Given the description of an element on the screen output the (x, y) to click on. 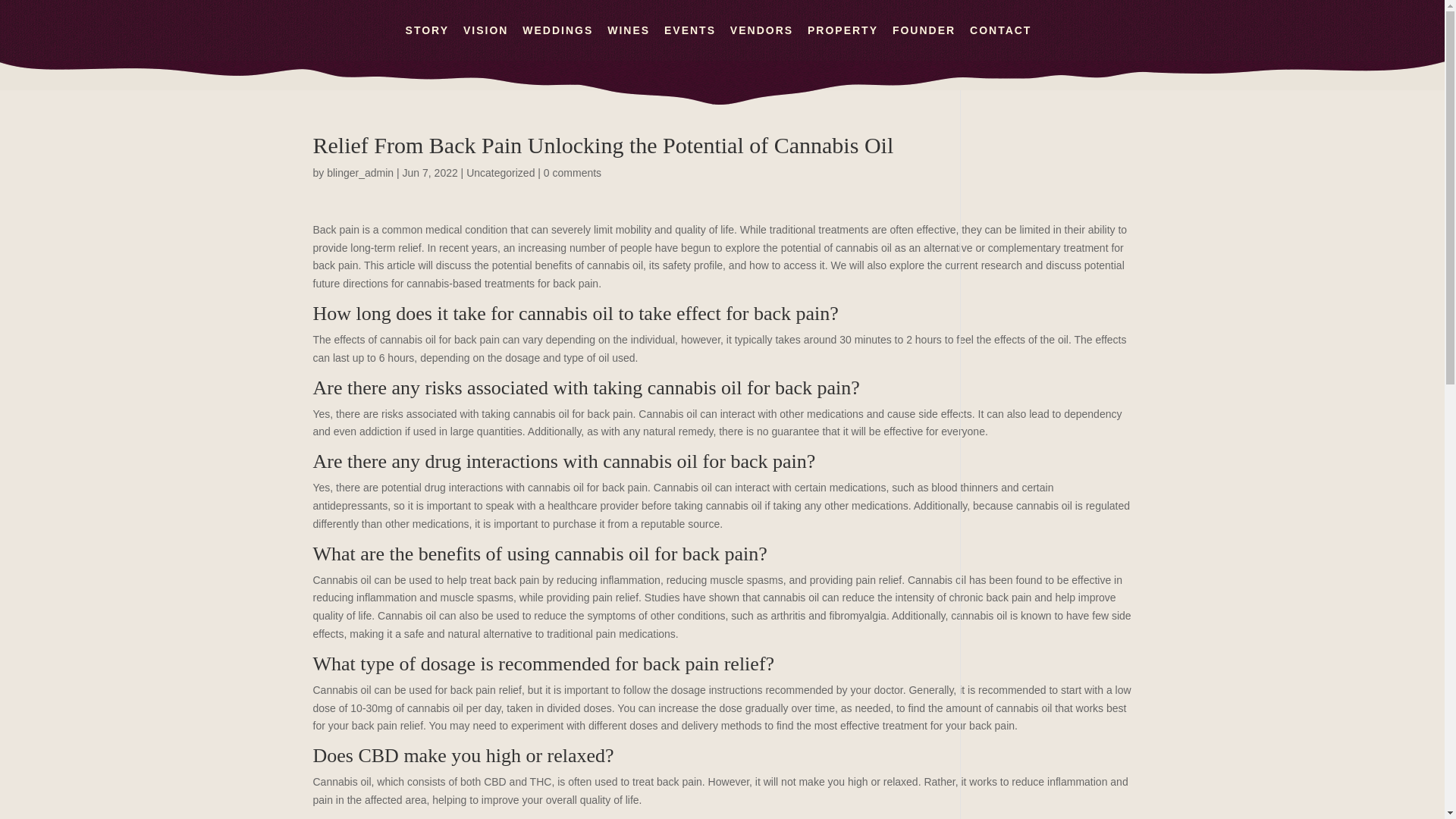
WINES (628, 42)
STORY (427, 42)
WEDDINGS (557, 42)
VISION (485, 42)
0 comments (572, 173)
CONTACT (999, 42)
PROPERTY (842, 42)
FOUNDER (923, 42)
Uncategorized (499, 173)
VENDORS (761, 42)
